Given the description of an element on the screen output the (x, y) to click on. 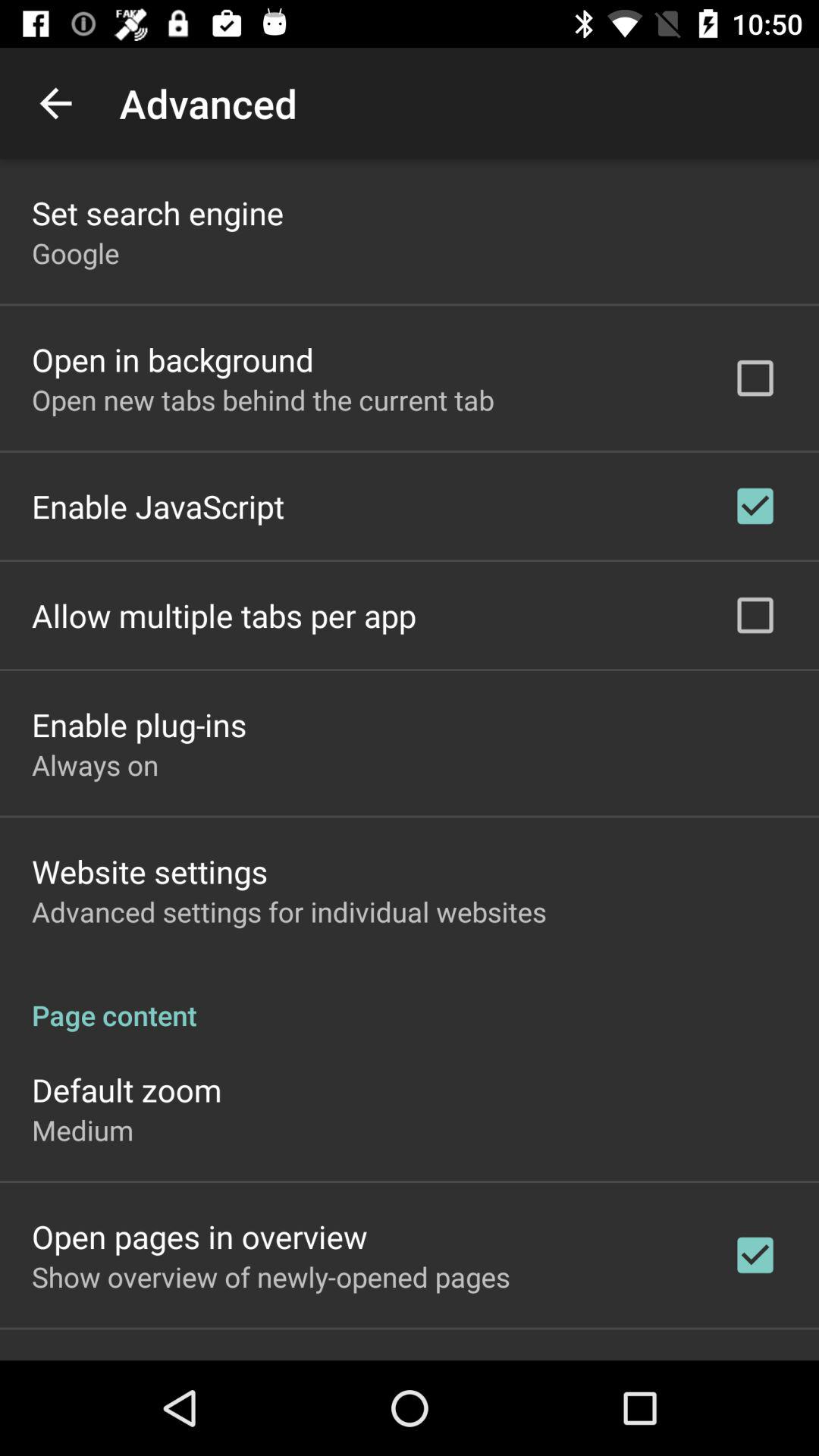
swipe to medium app (82, 1129)
